Given the description of an element on the screen output the (x, y) to click on. 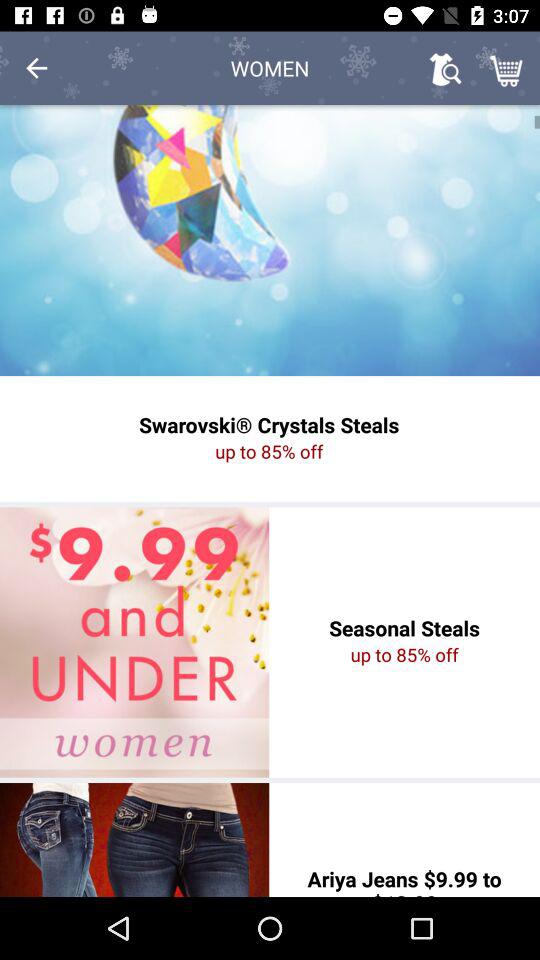
turn on icon to the left of the women item (36, 68)
